Given the description of an element on the screen output the (x, y) to click on. 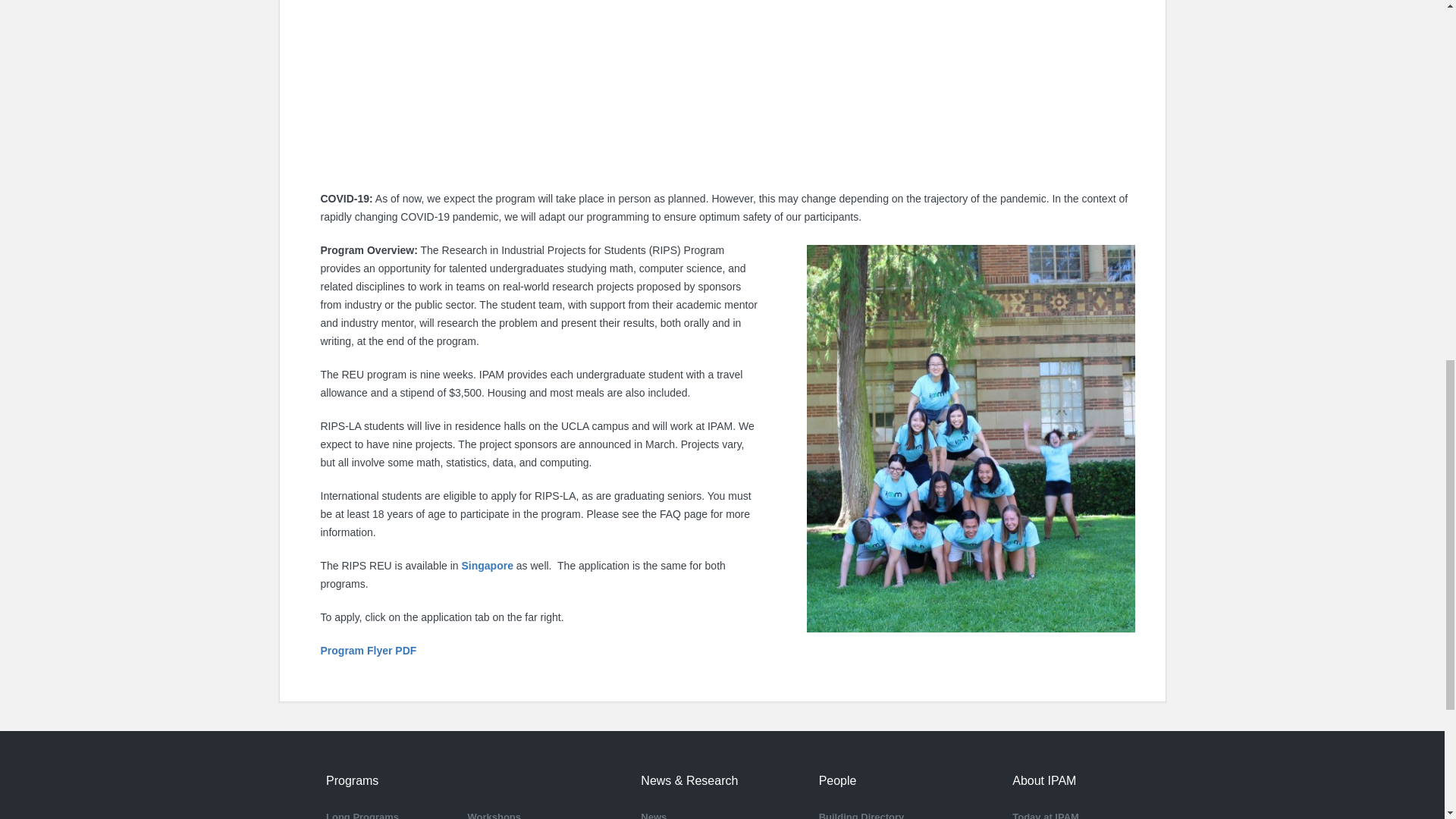
RIPS-Singapore (488, 565)
